Given the description of an element on the screen output the (x, y) to click on. 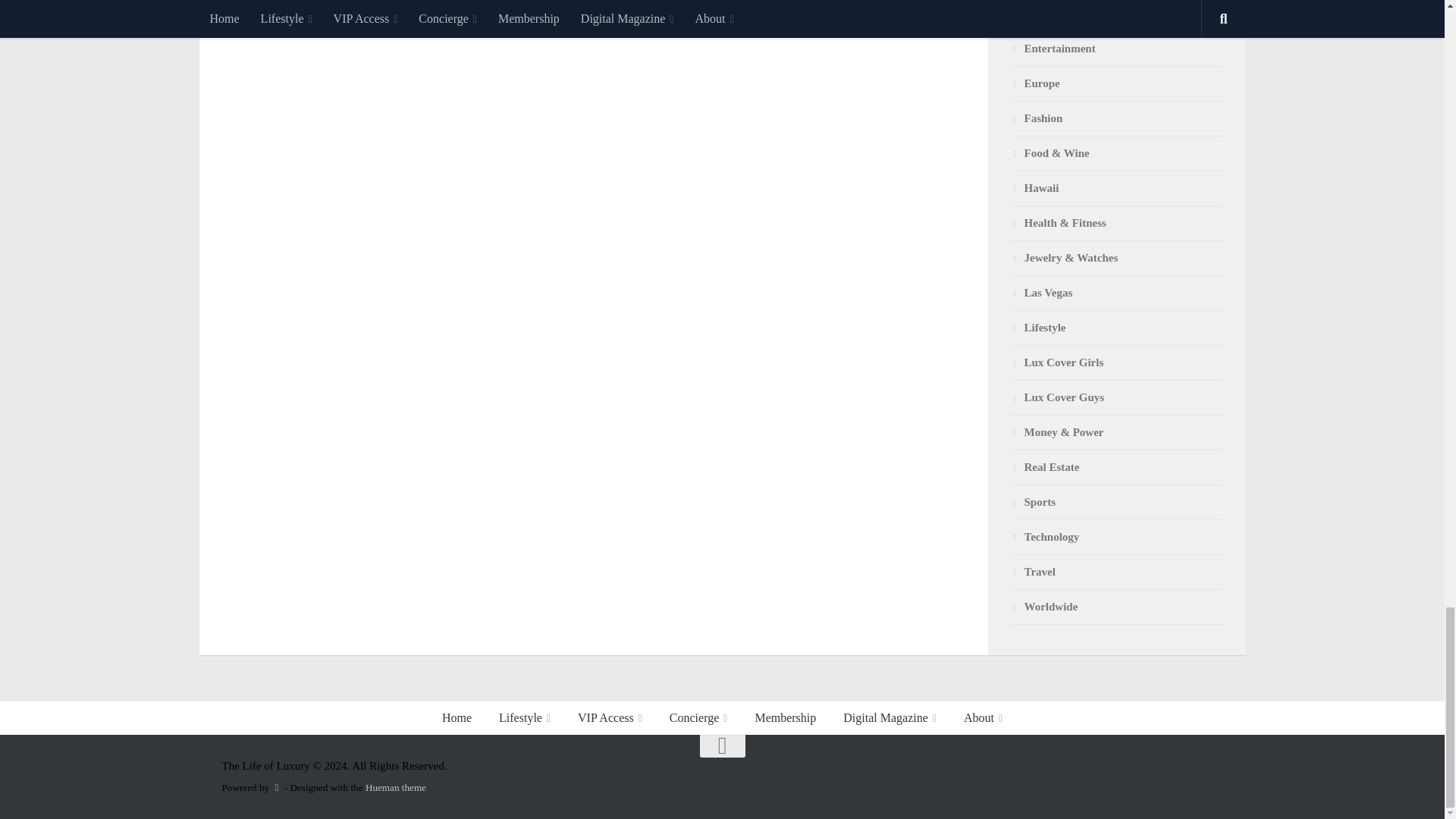
Hueman theme (395, 787)
Powered by WordPress (275, 787)
